Given the description of an element on the screen output the (x, y) to click on. 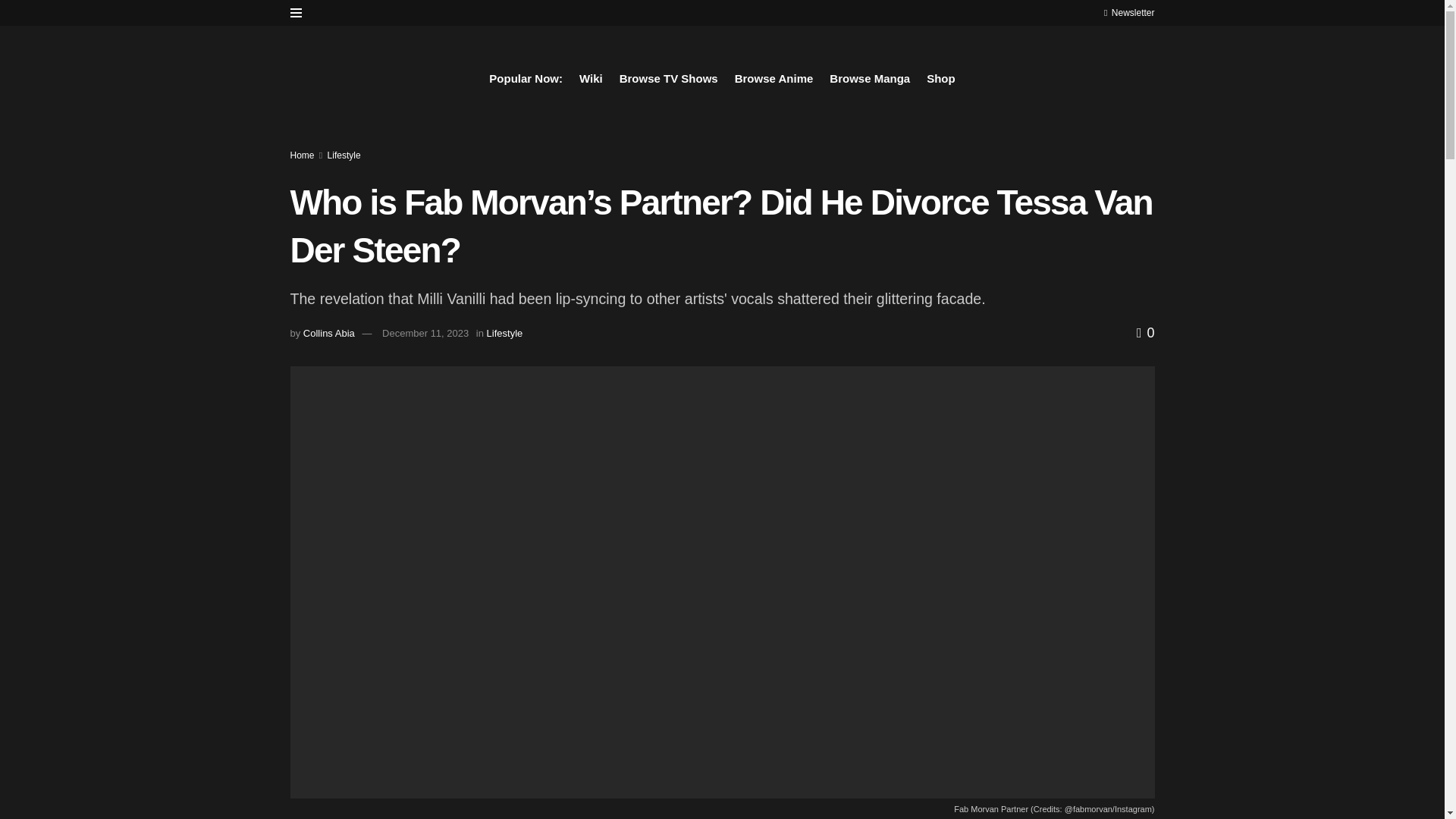
Lifestyle (344, 154)
Browse Manga (869, 78)
December 11, 2023 (424, 333)
Browse TV Shows (668, 78)
Lifestyle (504, 333)
0 (1145, 332)
Newsletter (1128, 12)
Popular Now: (525, 78)
Collins Abia (328, 333)
Browse Anime (774, 78)
